Given the description of an element on the screen output the (x, y) to click on. 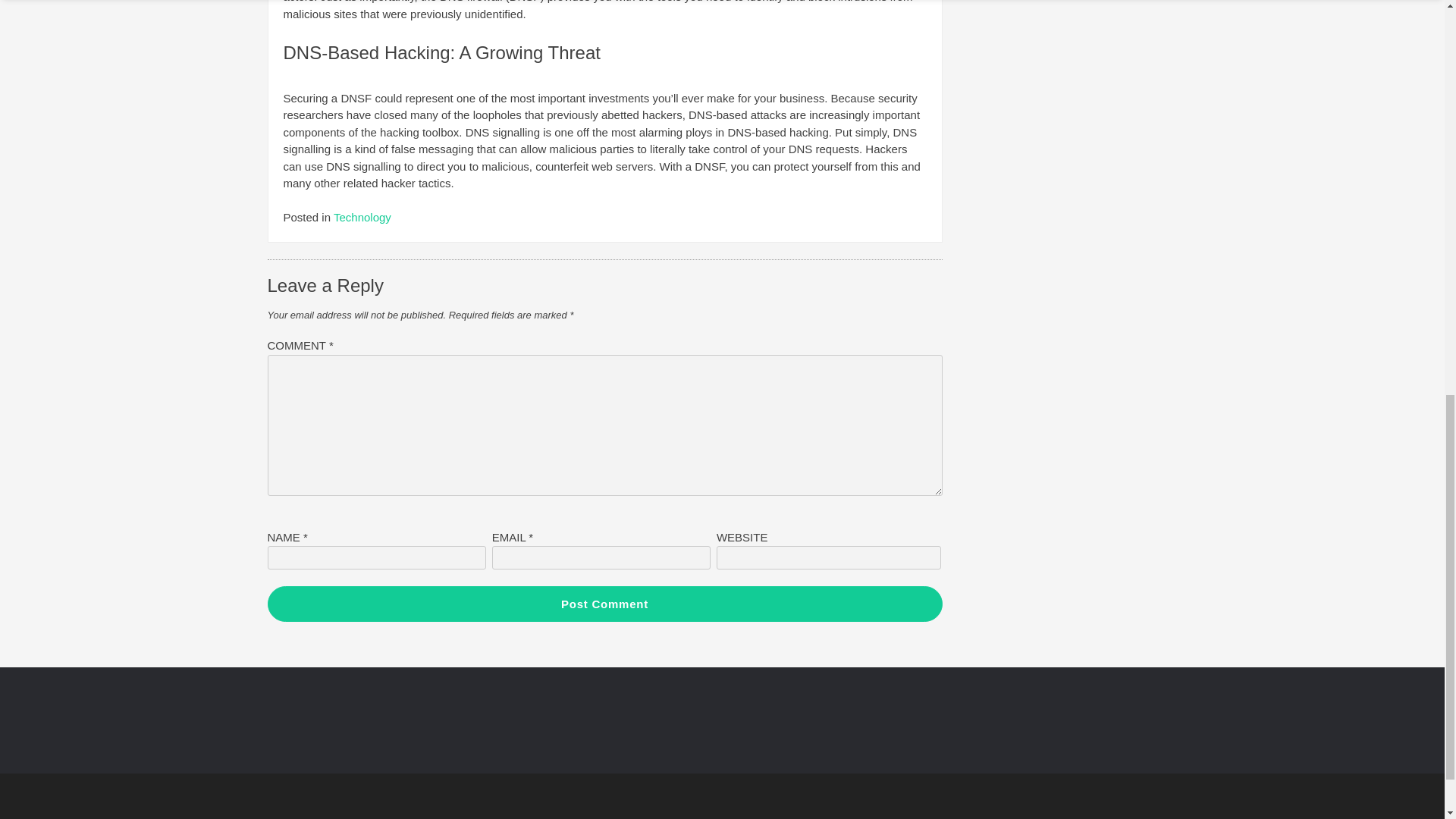
Technology (362, 216)
Post Comment (604, 603)
Post Comment (604, 603)
